Given the description of an element on the screen output the (x, y) to click on. 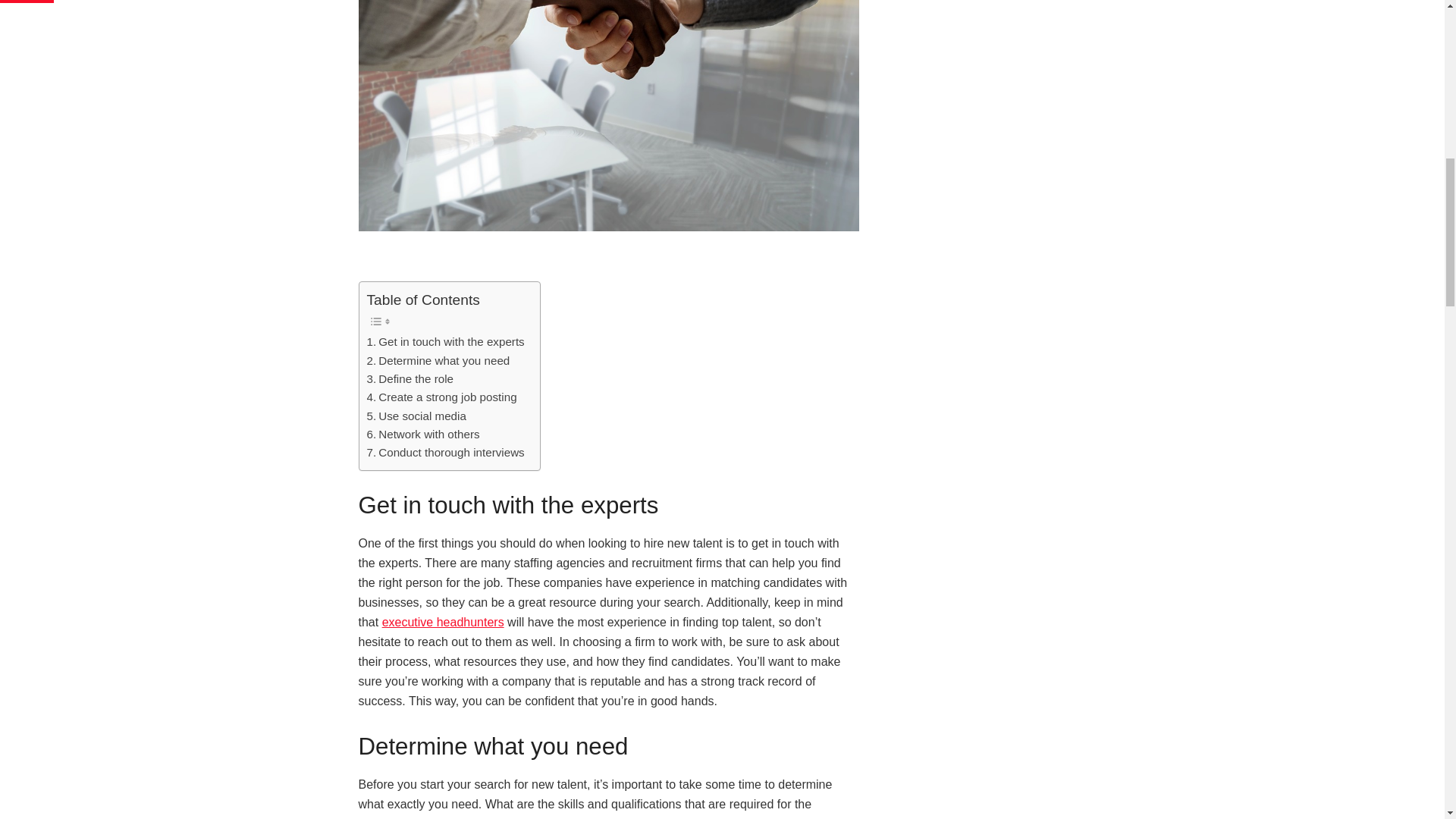
Network with others (423, 434)
Get in touch with the experts (445, 341)
Define the role (410, 379)
Conduct thorough interviews (445, 452)
Use social media (415, 416)
Determine what you need (438, 361)
Create a strong job posting (441, 397)
